Given the description of an element on the screen output the (x, y) to click on. 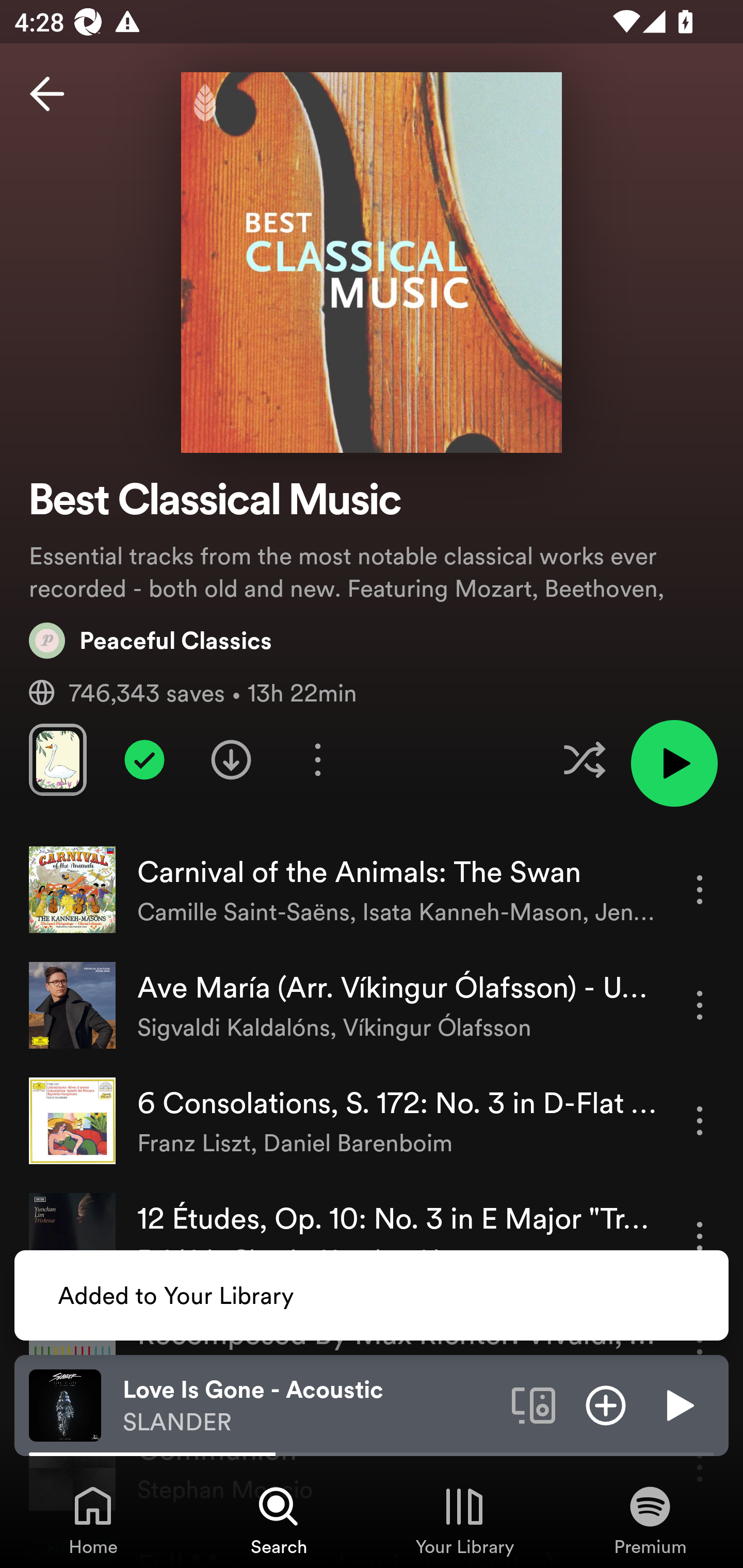
Back (46, 93)
Peaceful Classics (149, 640)
Swipe through previews of tracks in this playlist. (57, 759)
playlist added to Your Library (144, 759)
Download (230, 759)
More options for playlist Best Classical Music (317, 759)
Enable shuffle for this playlist (583, 759)
Play playlist (674, 763)
Love Is Gone - Acoustic SLANDER (309, 1405)
The cover art of the currently playing track (64, 1404)
Connect to a device. Opens the devices menu (533, 1404)
Add item (605, 1404)
Play (677, 1404)
Home, Tab 1 of 4 Home Home (92, 1519)
Search, Tab 2 of 4 Search Search (278, 1519)
Your Library, Tab 3 of 4 Your Library Your Library (464, 1519)
Premium, Tab 4 of 4 Premium Premium (650, 1519)
